Given the description of an element on the screen output the (x, y) to click on. 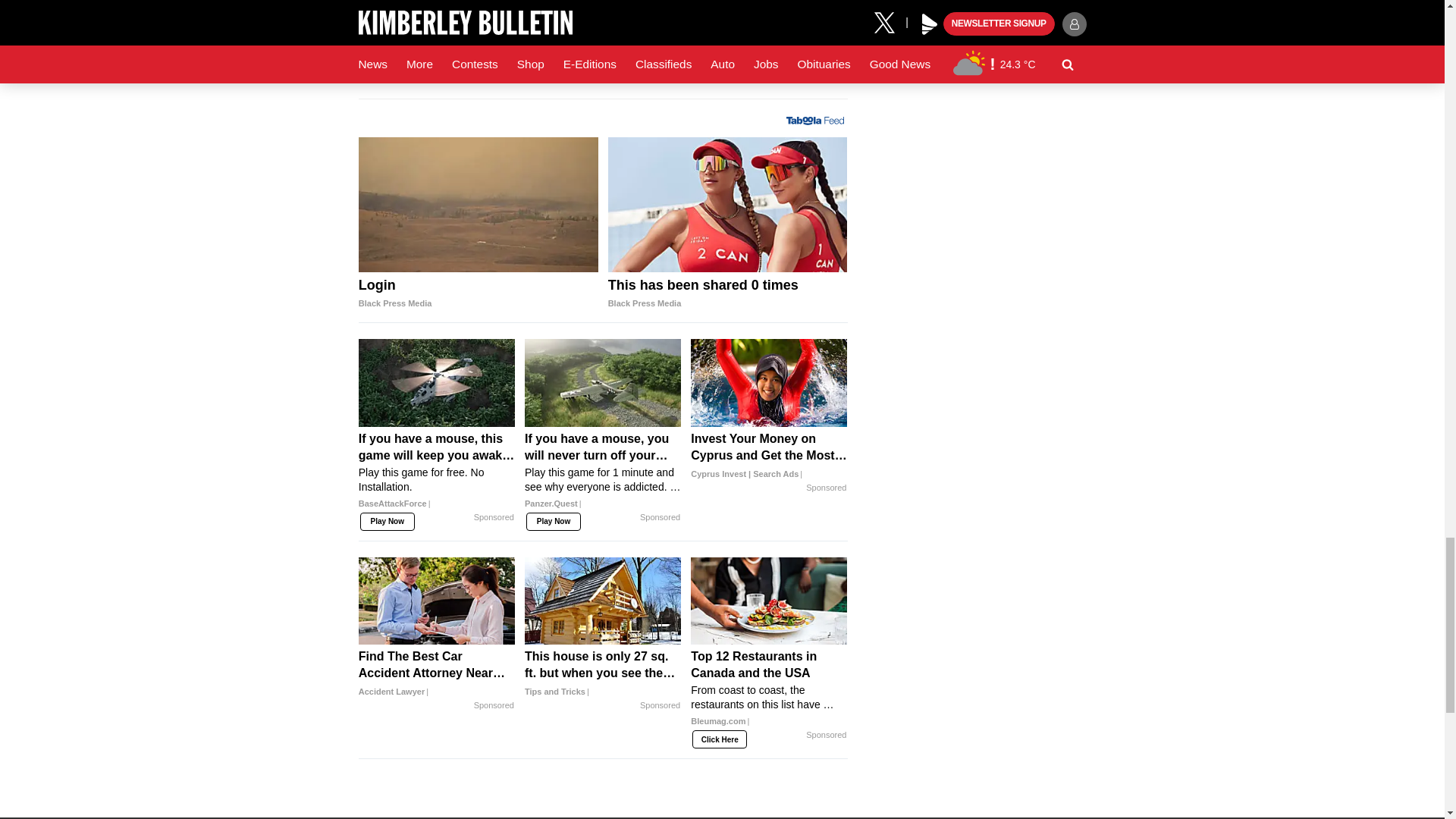
Show Comments (602, 70)
